Given the description of an element on the screen output the (x, y) to click on. 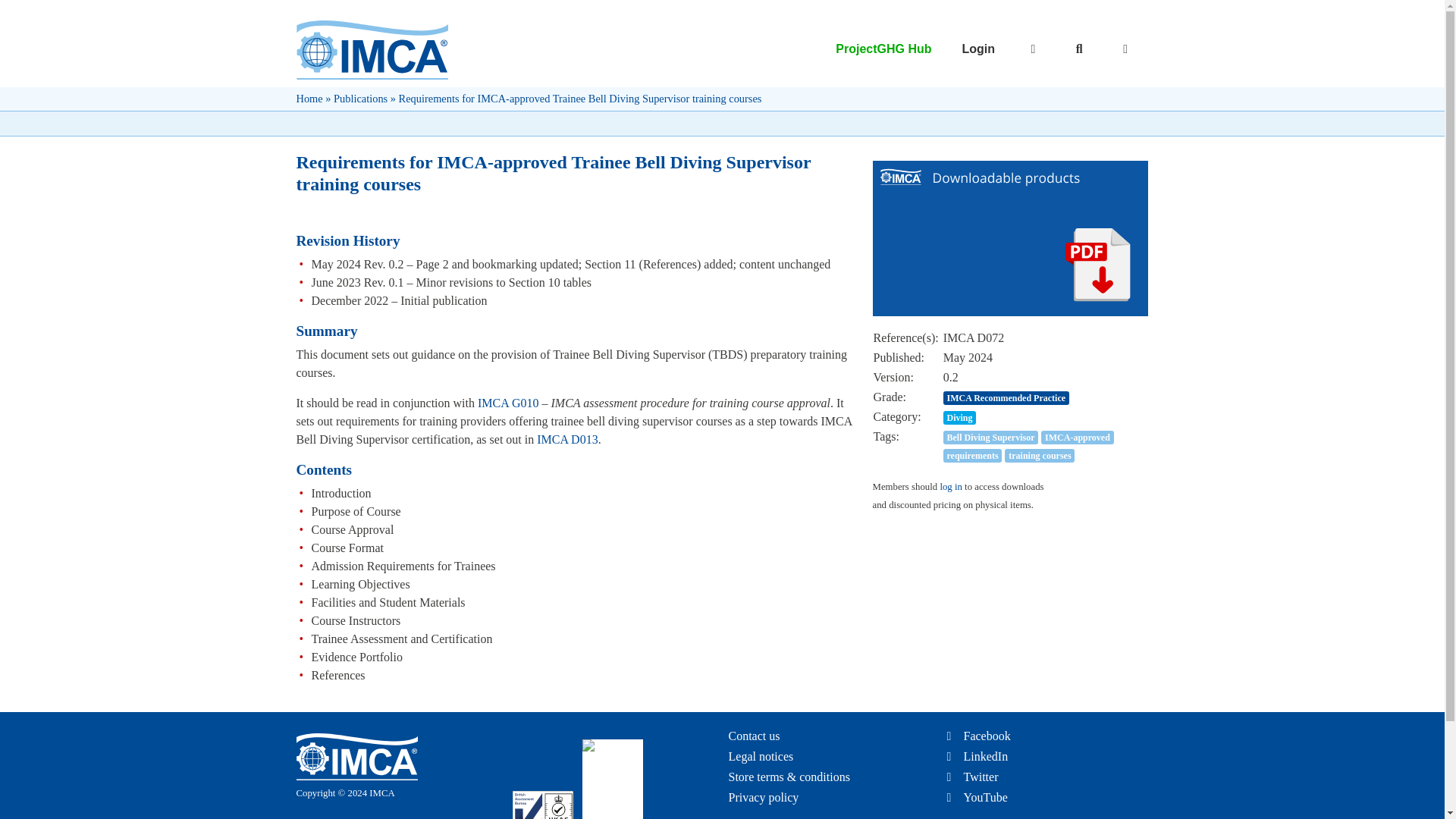
Login (865, 49)
ProjectGHG Hub (978, 49)
